Given the description of an element on the screen output the (x, y) to click on. 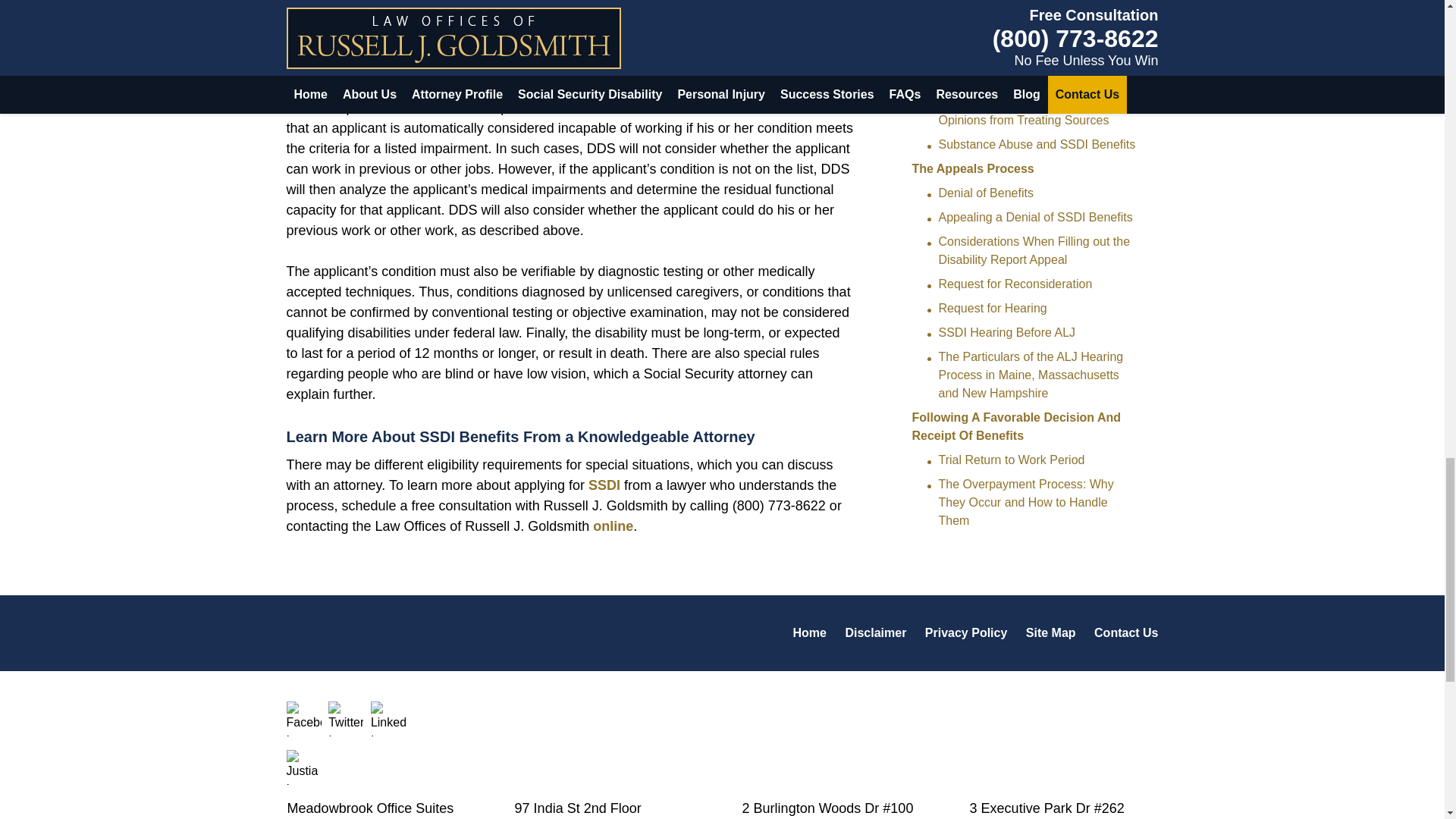
Twitter (345, 718)
online (612, 525)
SSDI (604, 485)
Facebook (303, 718)
Justia (303, 767)
LinkedIn (388, 718)
